Given the description of an element on the screen output the (x, y) to click on. 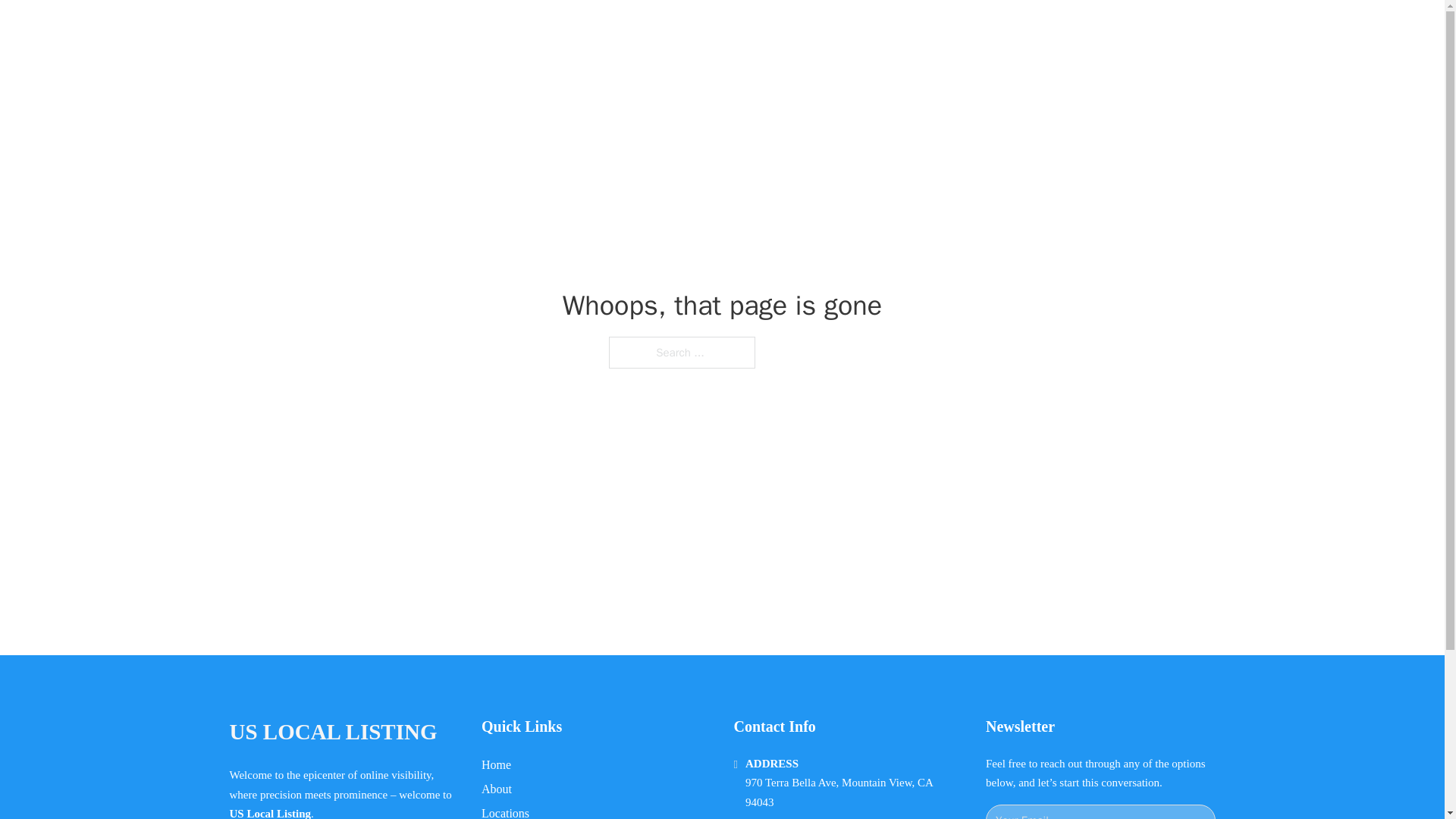
LOCATIONS (990, 29)
US LOCAL LISTING (403, 28)
About (496, 788)
Locations (505, 811)
Home (496, 764)
HOME (919, 29)
US LOCAL LISTING (332, 732)
